Given the description of an element on the screen output the (x, y) to click on. 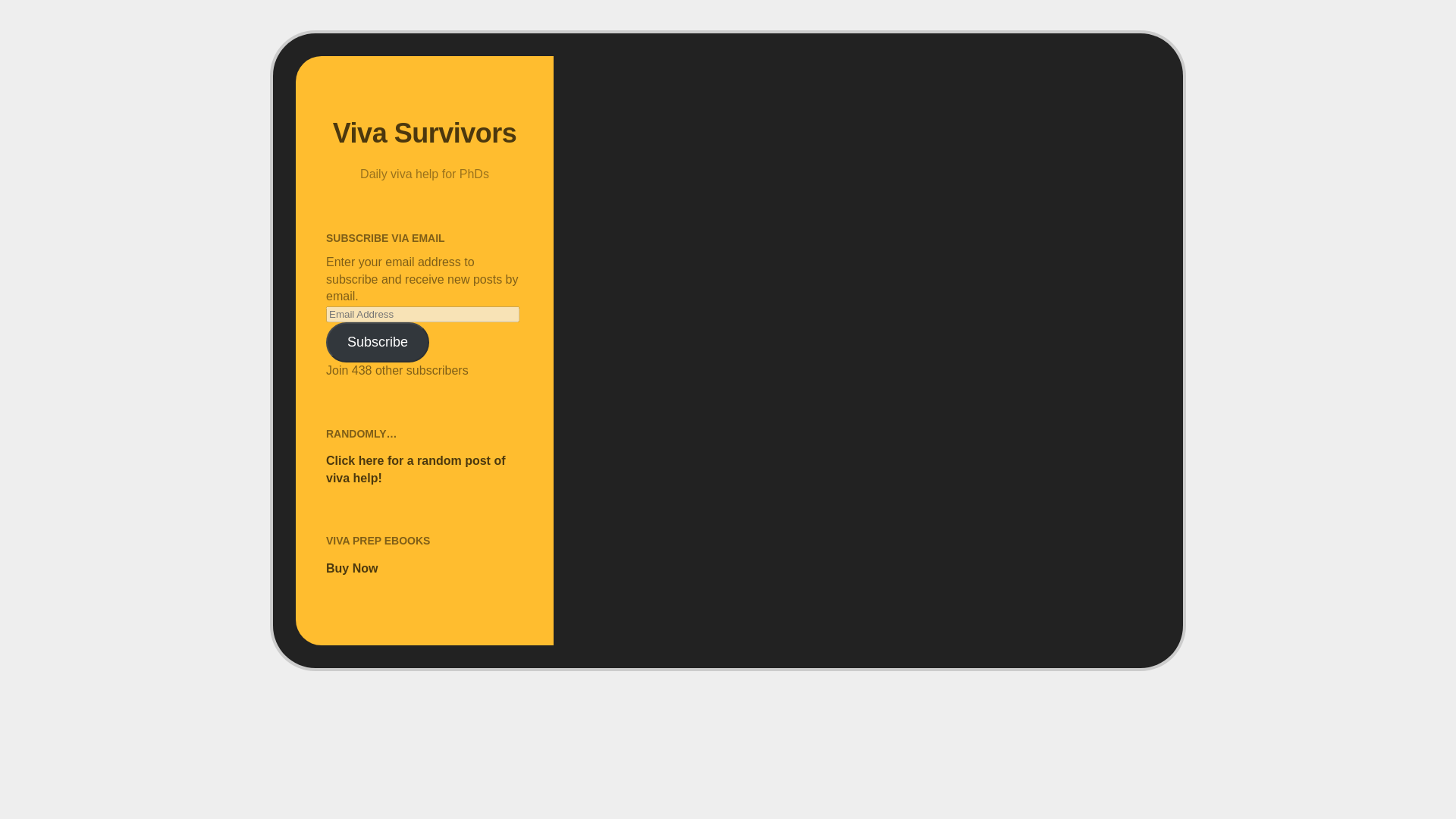
Viva Survivors (424, 133)
Buy Now (351, 567)
Click here for a random post of viva help! (415, 469)
Subscribe (377, 342)
